Given the description of an element on the screen output the (x, y) to click on. 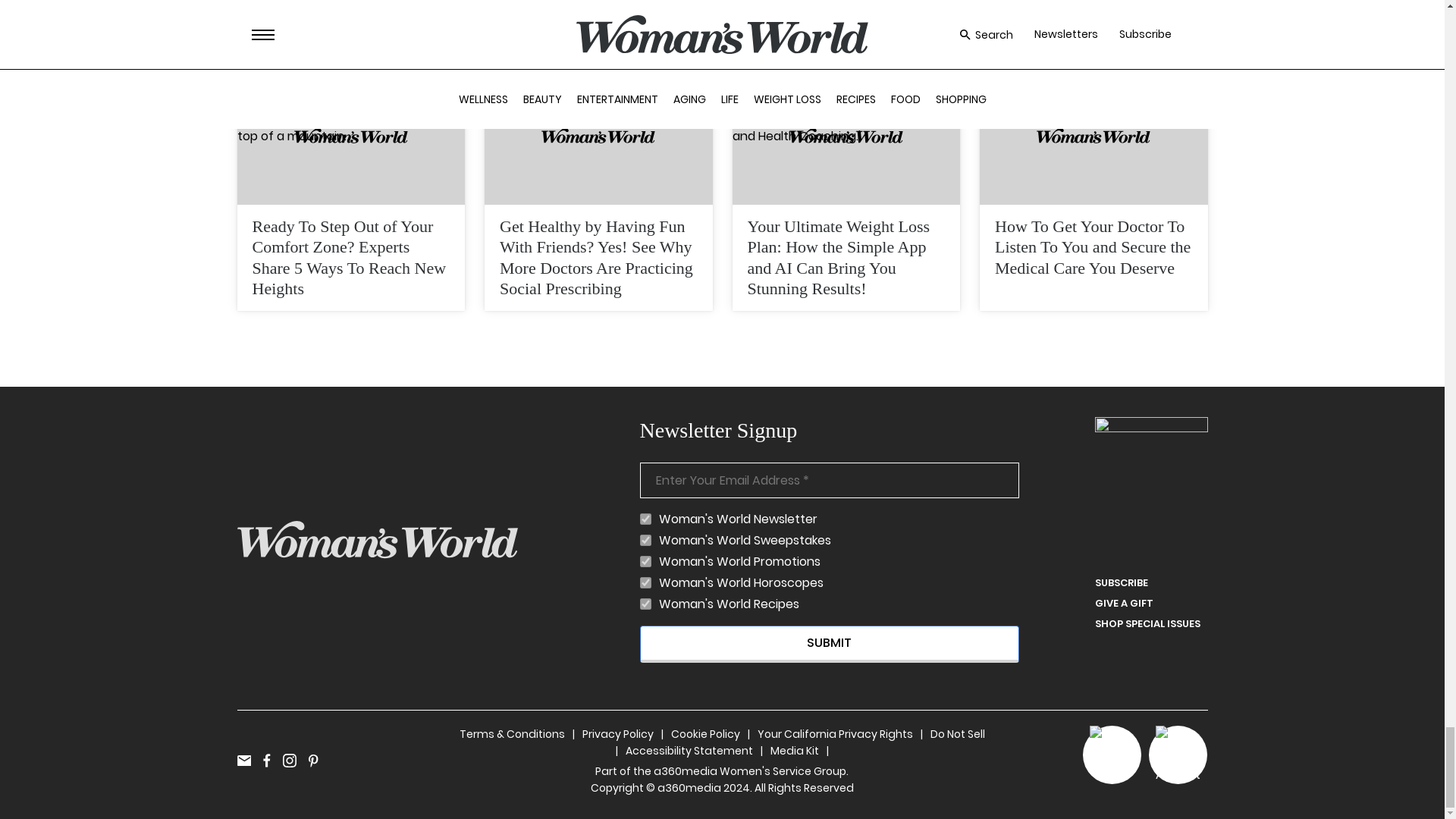
1 (645, 518)
1 (645, 582)
1 (645, 540)
1 (645, 603)
1 (645, 561)
